Given the description of an element on the screen output the (x, y) to click on. 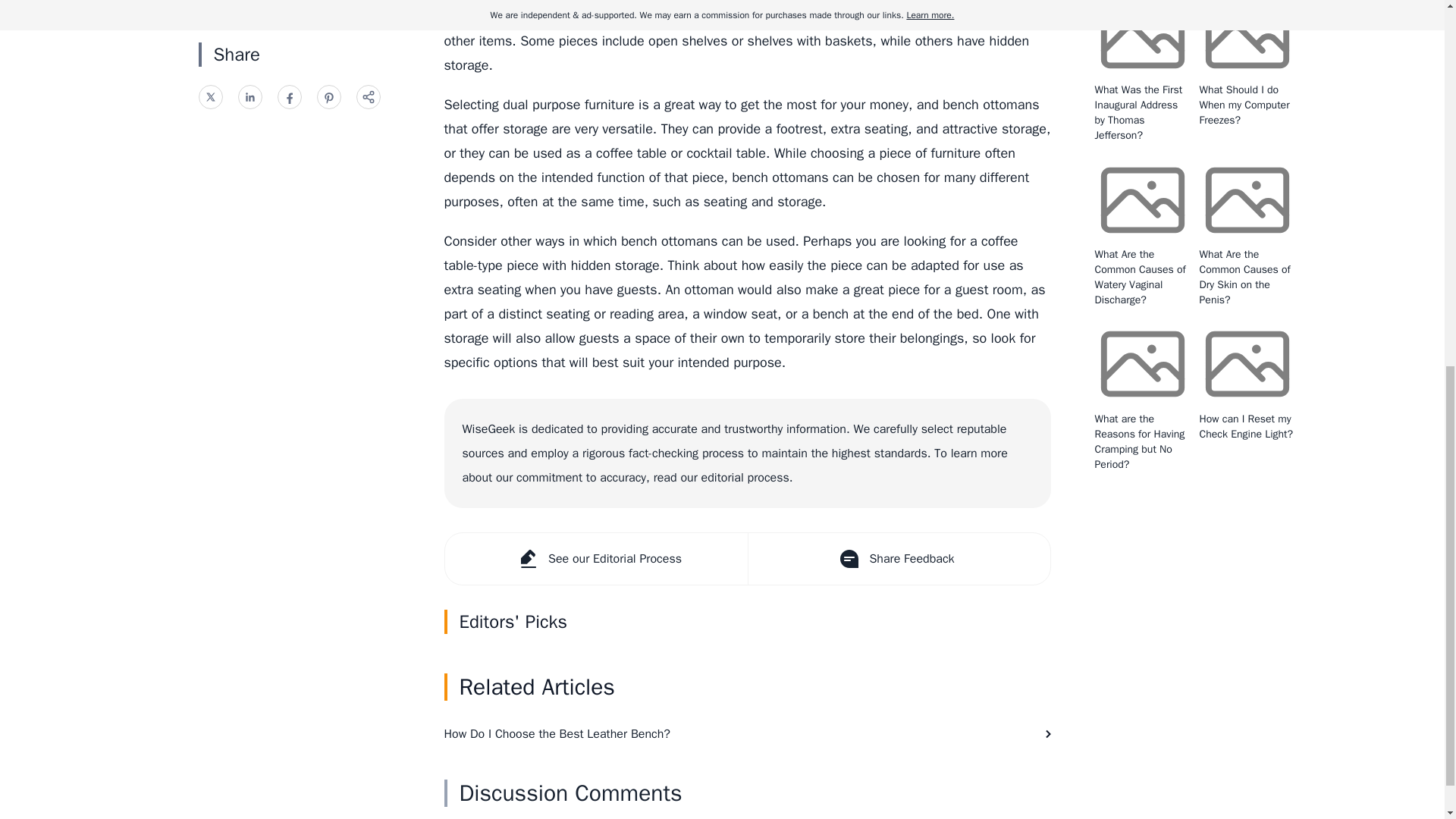
See our Editorial Process (595, 558)
How Do I Choose the Best Leather Bench? (747, 733)
Share Feedback (898, 558)
What Was the First Inaugural Address by Thomas Jefferson? (1138, 112)
